Given the description of an element on the screen output the (x, y) to click on. 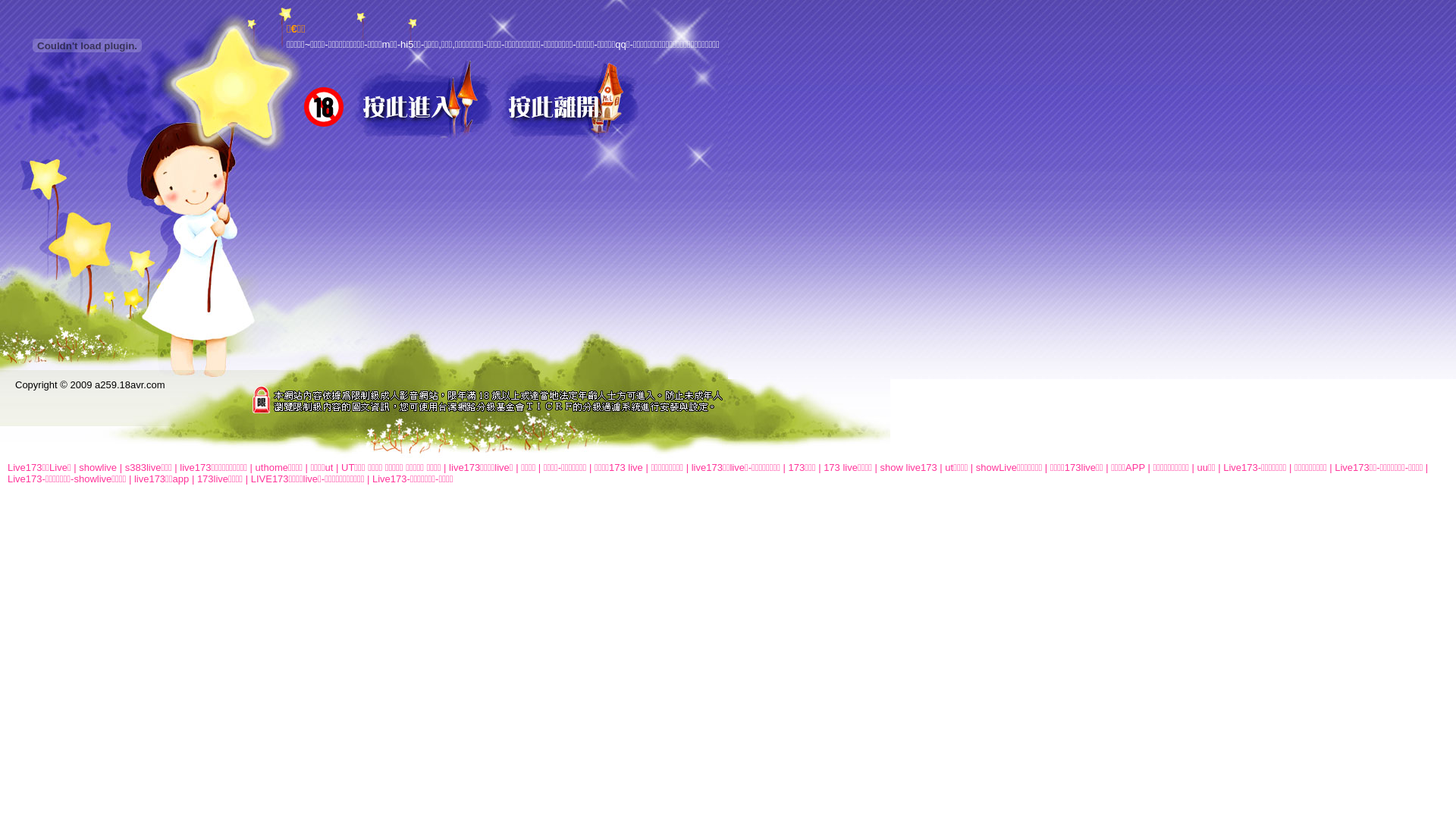
showlive Element type: text (97, 467)
show live173 Element type: text (908, 467)
